Given the description of an element on the screen output the (x, y) to click on. 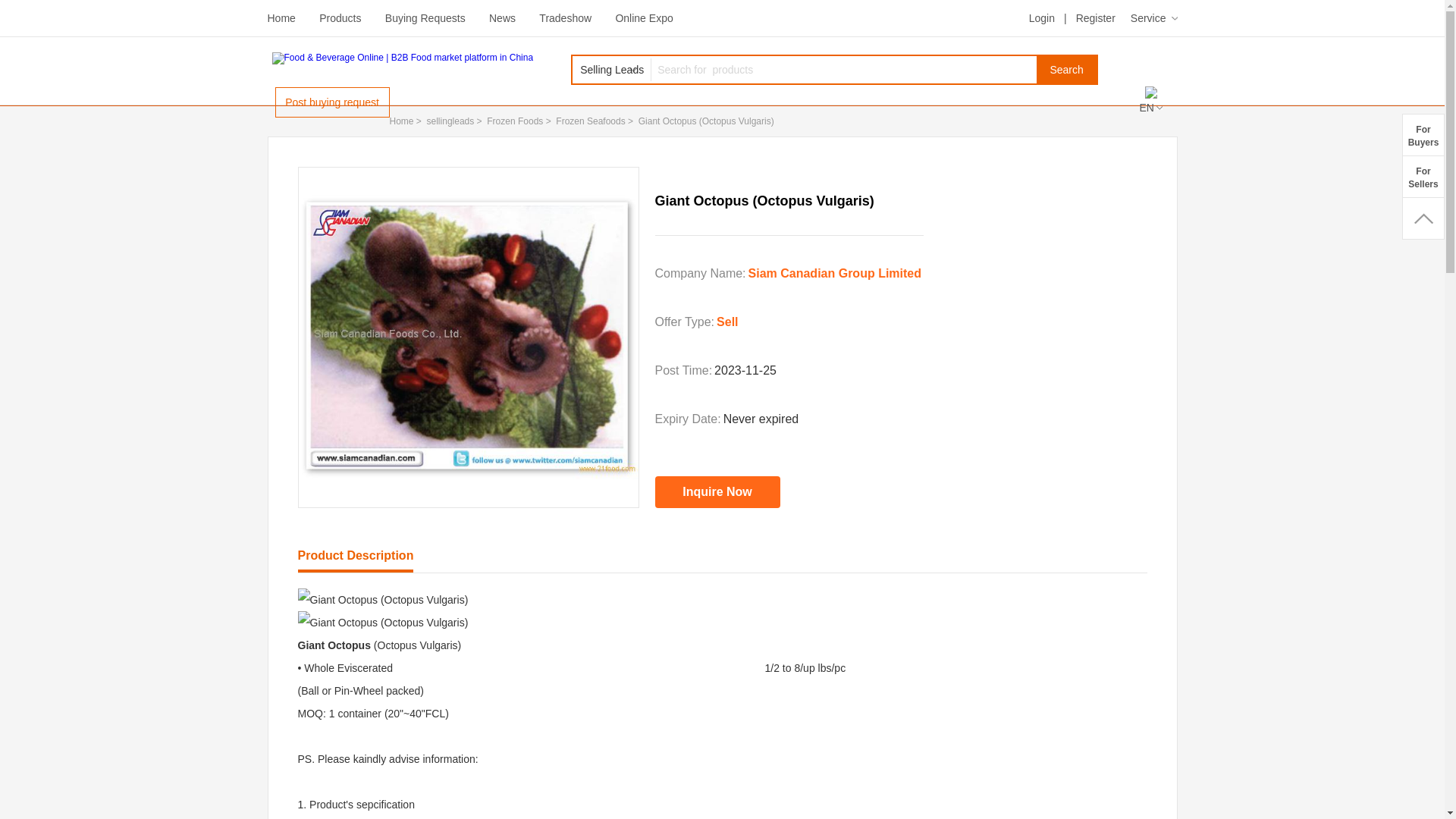
Inquire Now Element type: text (717, 492)
Register Element type: text (1095, 18)
EN Element type: text (1150, 107)
For
Buyers Element type: text (1423, 134)
  Element type: text (1423, 218)
Frozen Seafoods Element type: text (589, 121)
Products Element type: text (339, 18)
Frozen Foods Element type: text (514, 121)
Online Expo Element type: text (643, 18)
Service Element type: text (1153, 18)
For
Sellers Element type: text (1423, 176)
sellingleads Element type: text (450, 121)
Siam Canadian Group Limited Element type: text (834, 272)
Login Element type: text (1041, 18)
News Element type: text (502, 18)
Search Element type: text (1066, 69)
Buying Requests Element type: text (425, 18)
Home Element type: text (401, 121)
Post buying request Element type: text (331, 102)
Tradeshow Element type: text (565, 18)
Home Element type: text (280, 18)
